Given the description of an element on the screen output the (x, y) to click on. 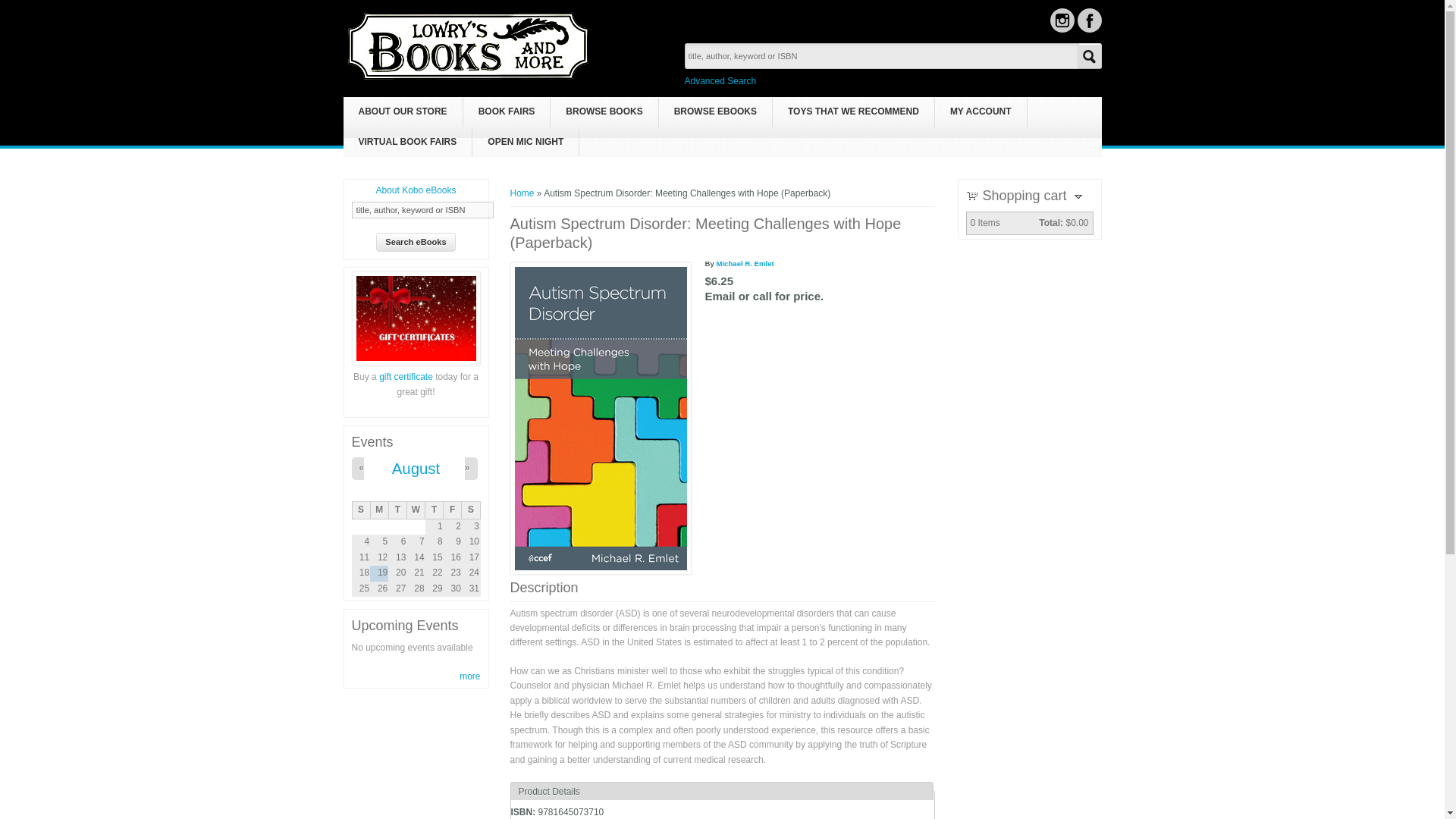
BOOK FAIRS (506, 111)
TOYS THAT WE RECOMMEND (853, 111)
MY ACCOUNT (980, 111)
VIRTUAL BOOK FAIRS (406, 142)
Enter the terms you wish to search for. (892, 55)
title, author, keyword or ISBN (422, 209)
Search (1088, 55)
ABOUT OUR STORE (401, 111)
BROWSE BOOKS (604, 111)
Home (468, 77)
